Given the description of an element on the screen output the (x, y) to click on. 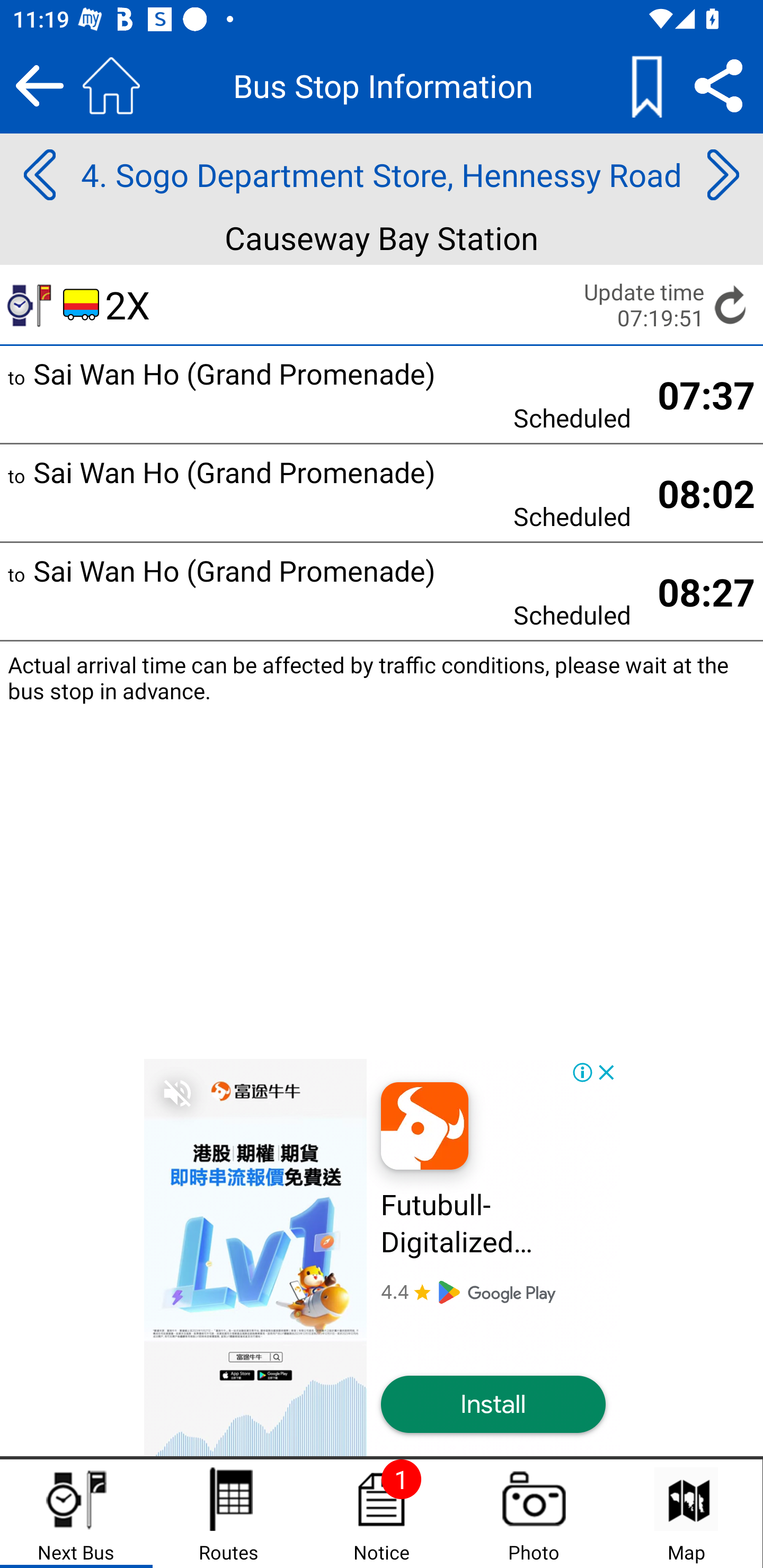
Jump to home page (111, 85)
Add bookmark (646, 85)
Share point to point route search criteria) (718, 85)
Back (39, 85)
Previous stop (39, 174)
Next stop (723, 174)
Causeway Bay Station (381, 240)
Refresh (731, 304)
Install (492, 1404)
Next Bus (76, 1513)
Routes (228, 1513)
1 Notice (381, 1513)
Photo (533, 1513)
Map (686, 1513)
